Given the description of an element on the screen output the (x, y) to click on. 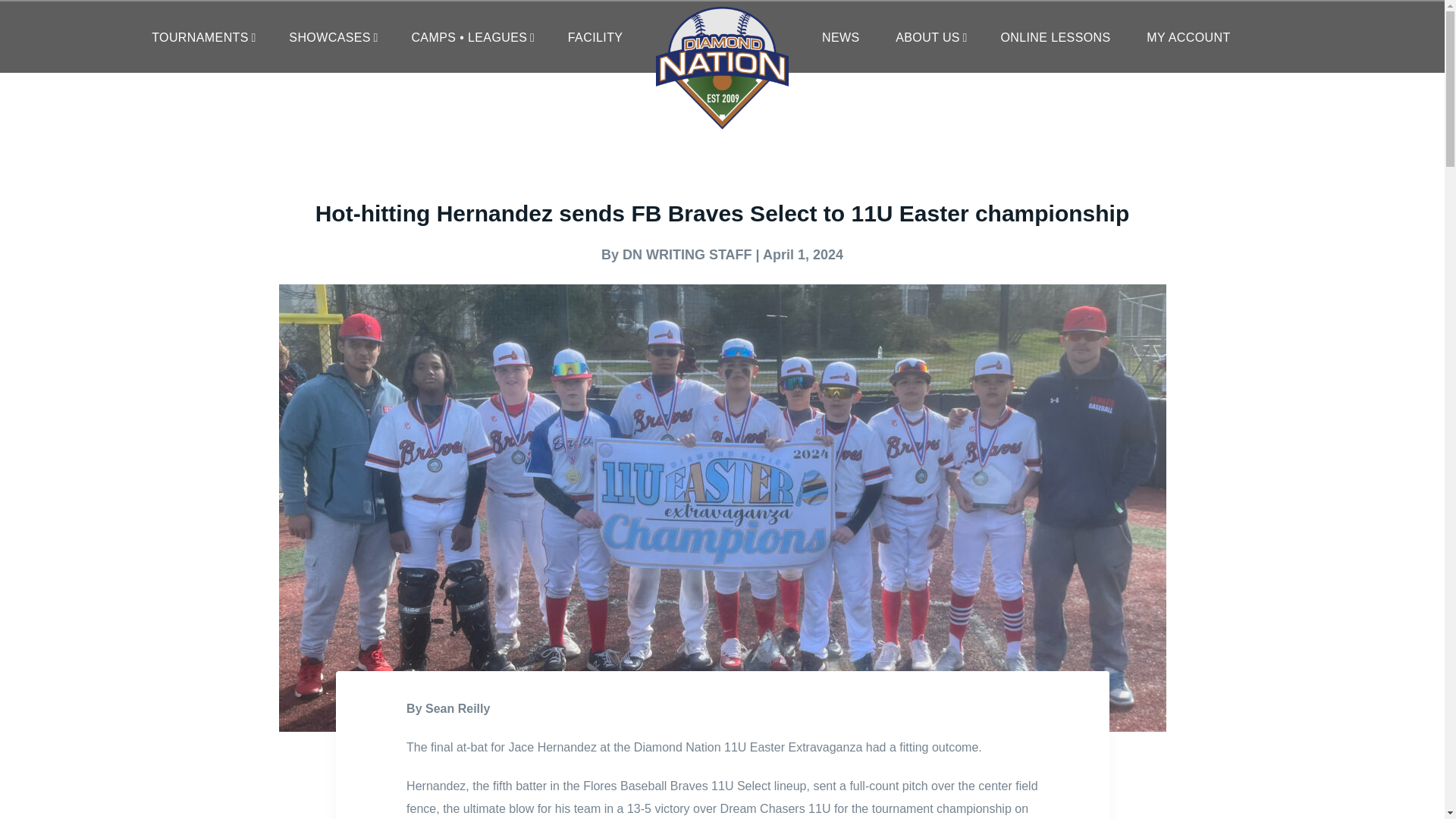
MY ACCOUNT (1187, 37)
SHOWCASES (331, 37)
ABOUT US (929, 37)
FACILITY (595, 37)
TOURNAMENTS (201, 37)
NEWS (840, 37)
ONLINE LESSONS (1054, 37)
